Given the description of an element on the screen output the (x, y) to click on. 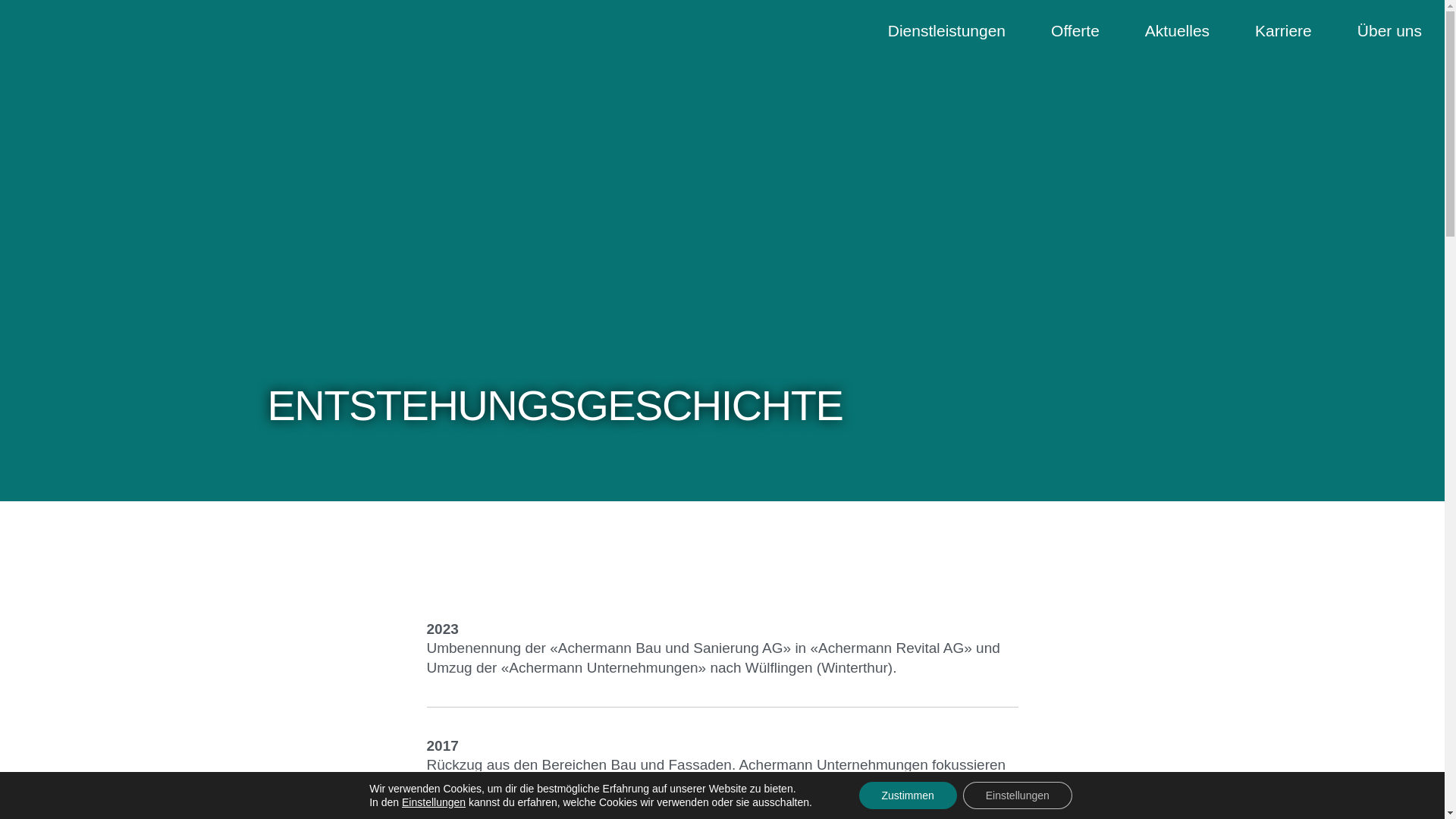
Zustimmen Element type: text (907, 795)
Einstellungen Element type: text (433, 802)
Einstellungen Element type: text (1017, 795)
Aktuelles Element type: text (1177, 29)
Dienstleistungen Element type: text (946, 29)
Offerte Element type: text (1075, 29)
Karriere Element type: text (1283, 29)
Skip to primary navigation Element type: text (0, 0)
